Given the description of an element on the screen output the (x, y) to click on. 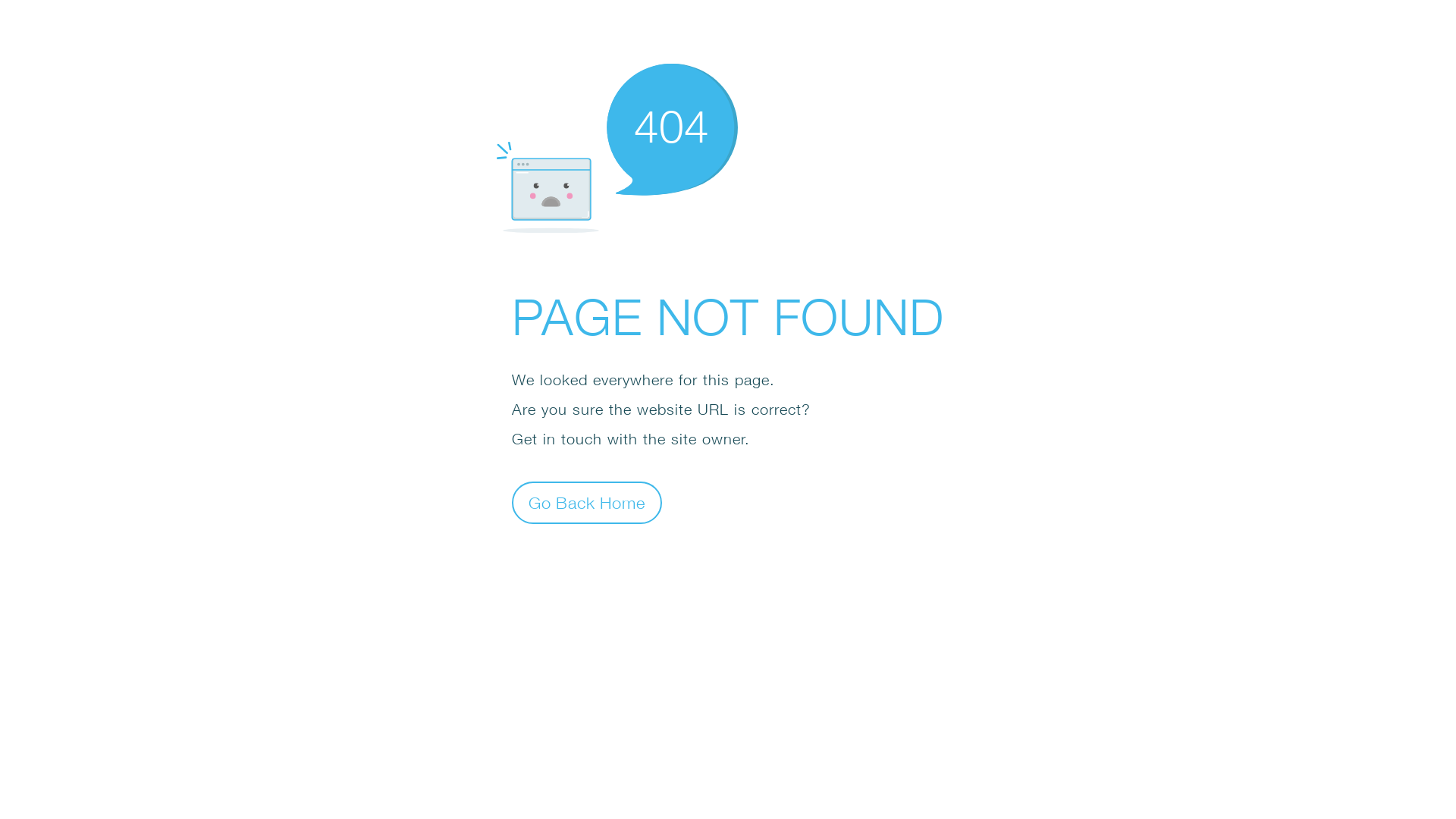
Go Back Home Element type: text (586, 502)
